Given the description of an element on the screen output the (x, y) to click on. 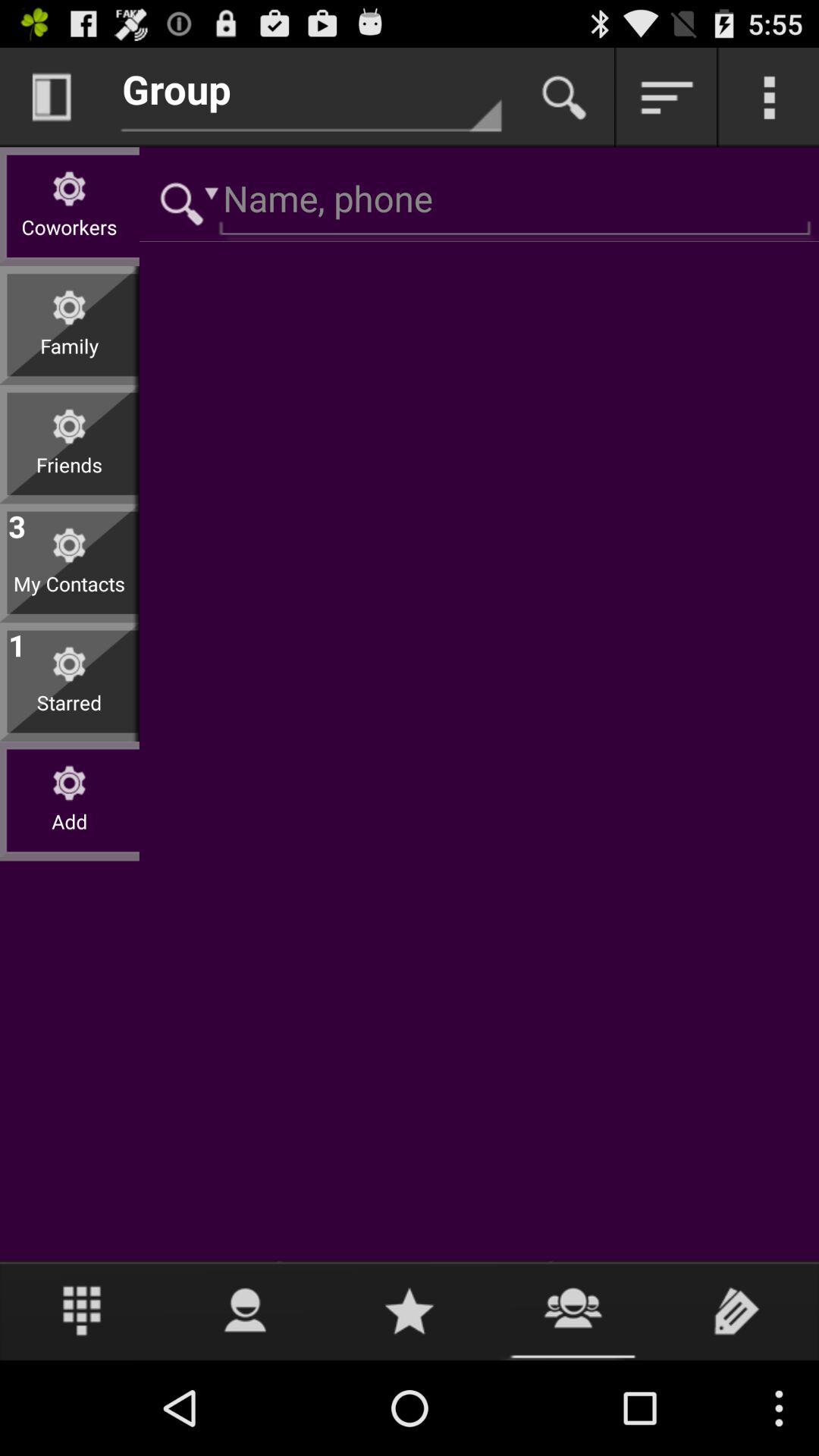
add to favorites (409, 1310)
